Given the description of an element on the screen output the (x, y) to click on. 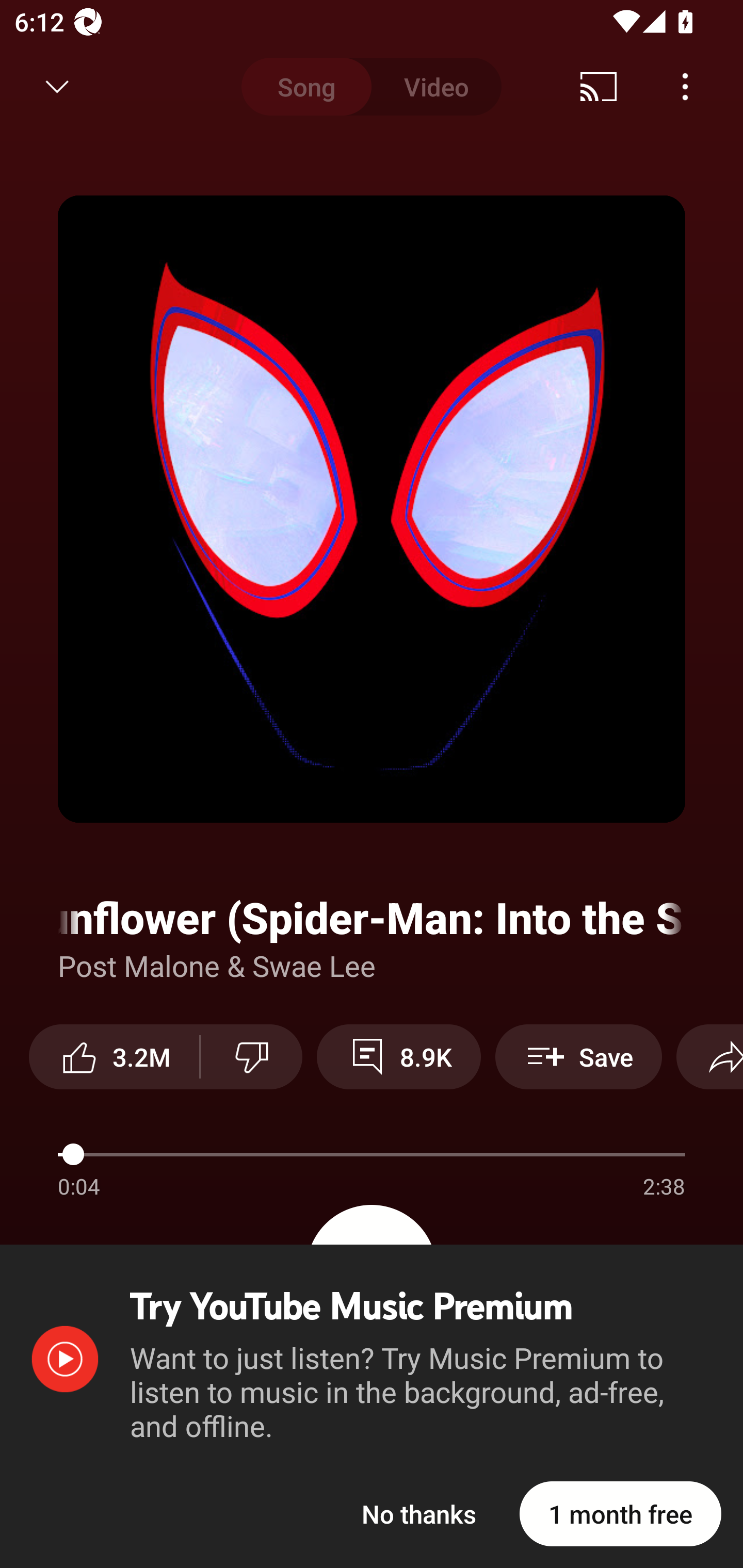
Minimize (57, 86)
Cast. Disconnected (598, 86)
Menu (684, 86)
Dislike (251, 1056)
8.9K View 8,905 comments (398, 1056)
Save Save to playlist (578, 1056)
Share (709, 1056)
No thanks (418, 1513)
1 month free (620, 1513)
